Given the description of an element on the screen output the (x, y) to click on. 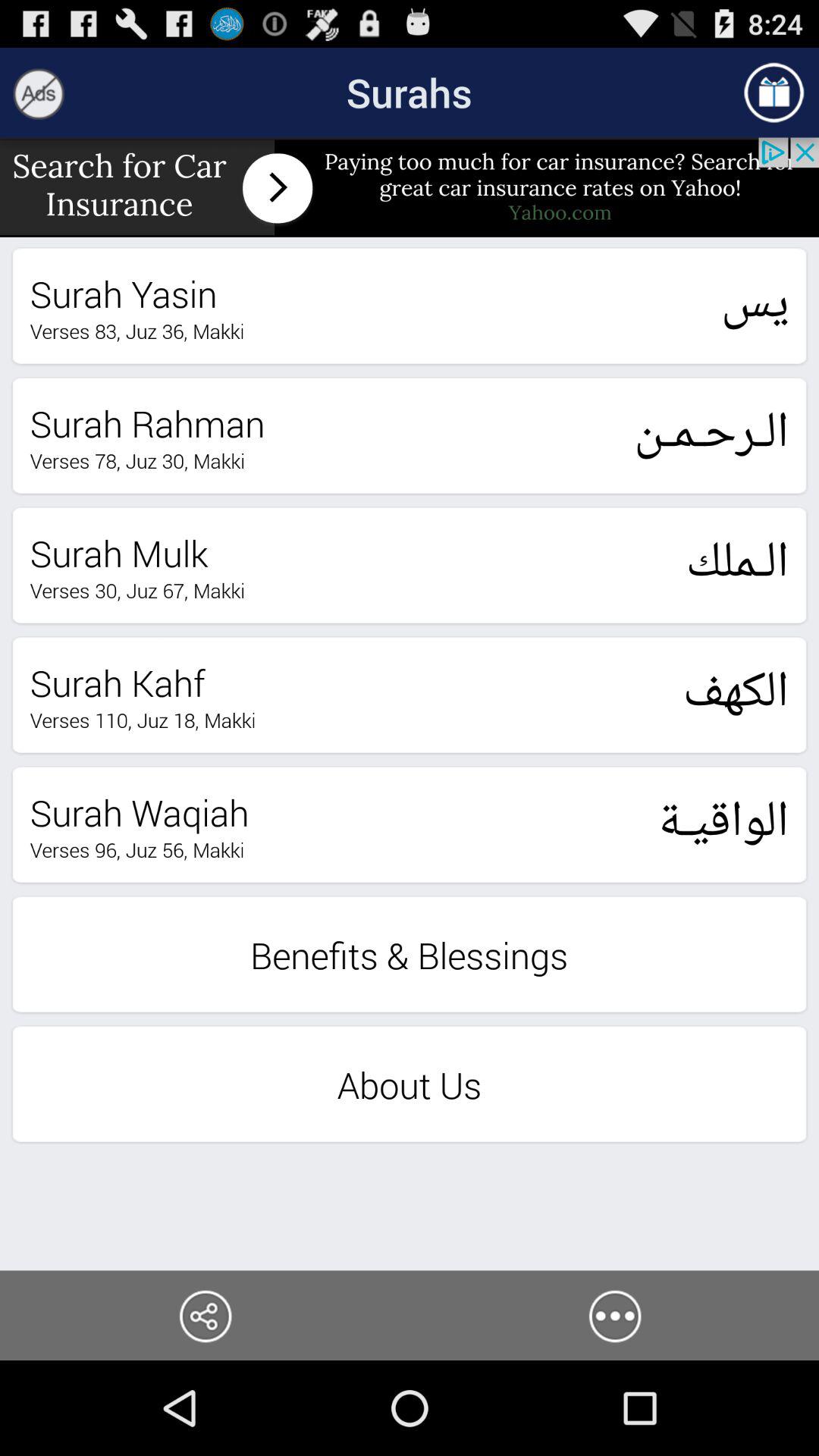
link to (204, 1315)
